Given the description of an element on the screen output the (x, y) to click on. 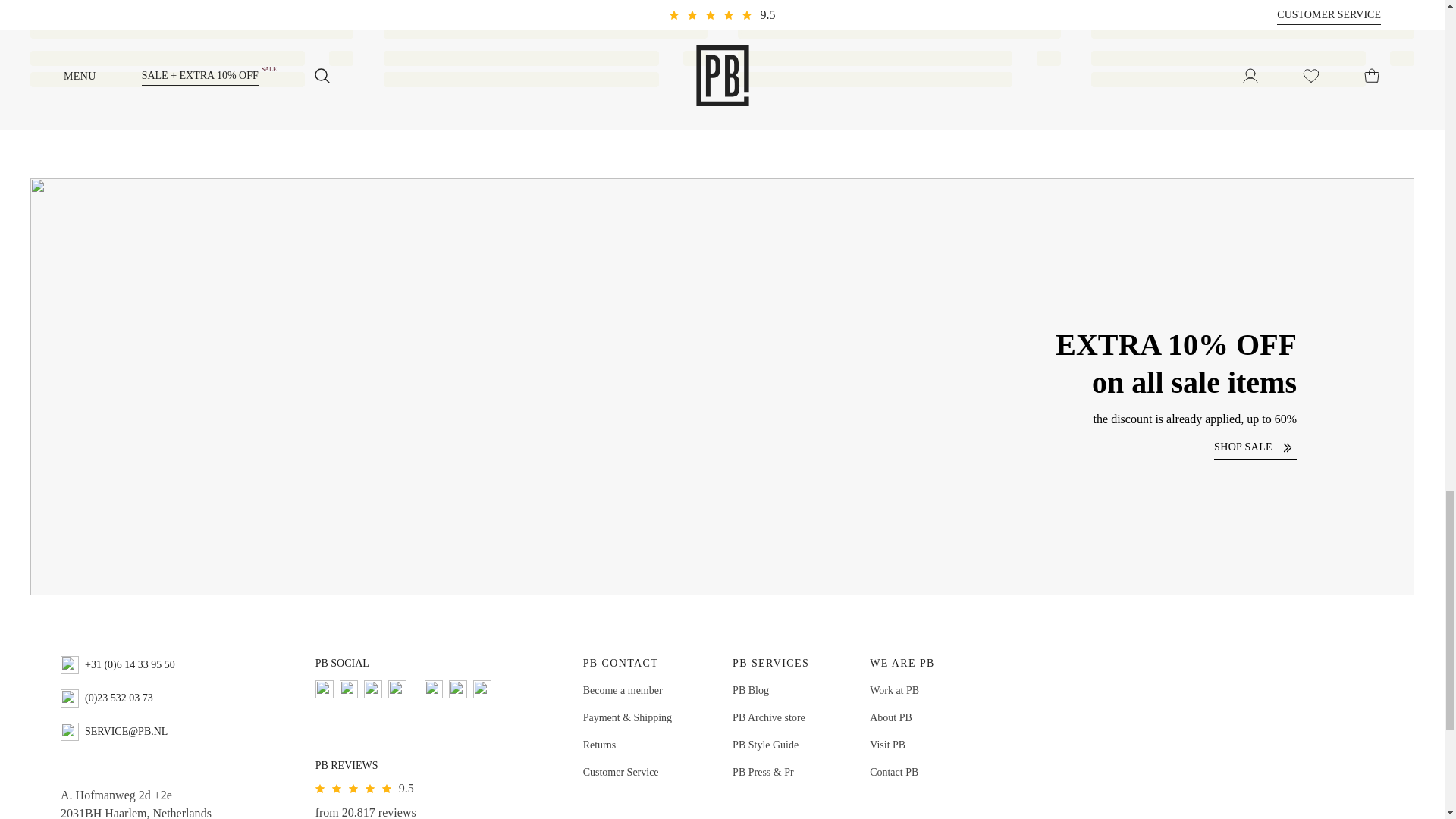
SHOP SALE (1255, 446)
